Given the description of an element on the screen output the (x, y) to click on. 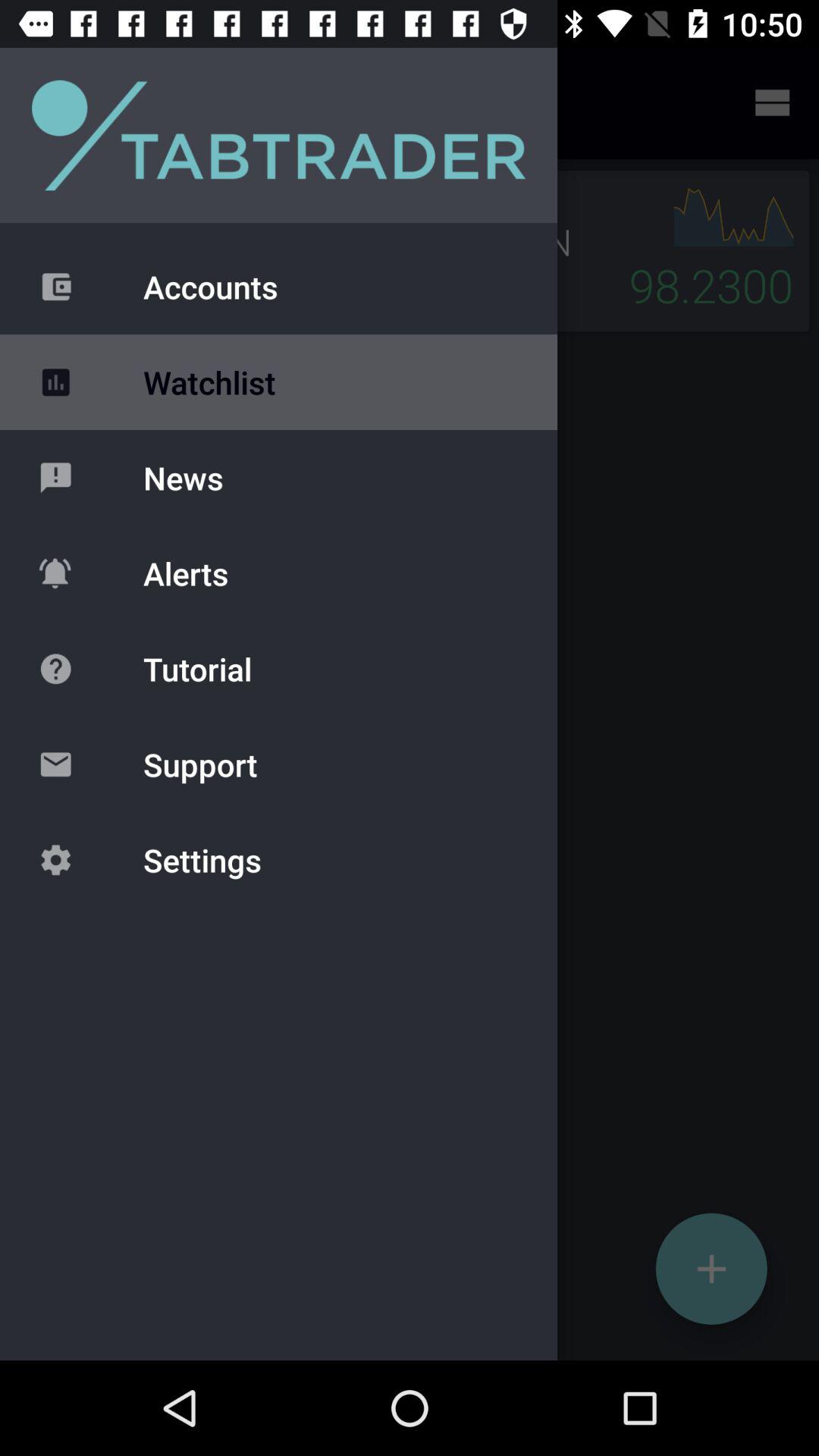
select the row just above accounts (278, 135)
